Given the description of an element on the screen output the (x, y) to click on. 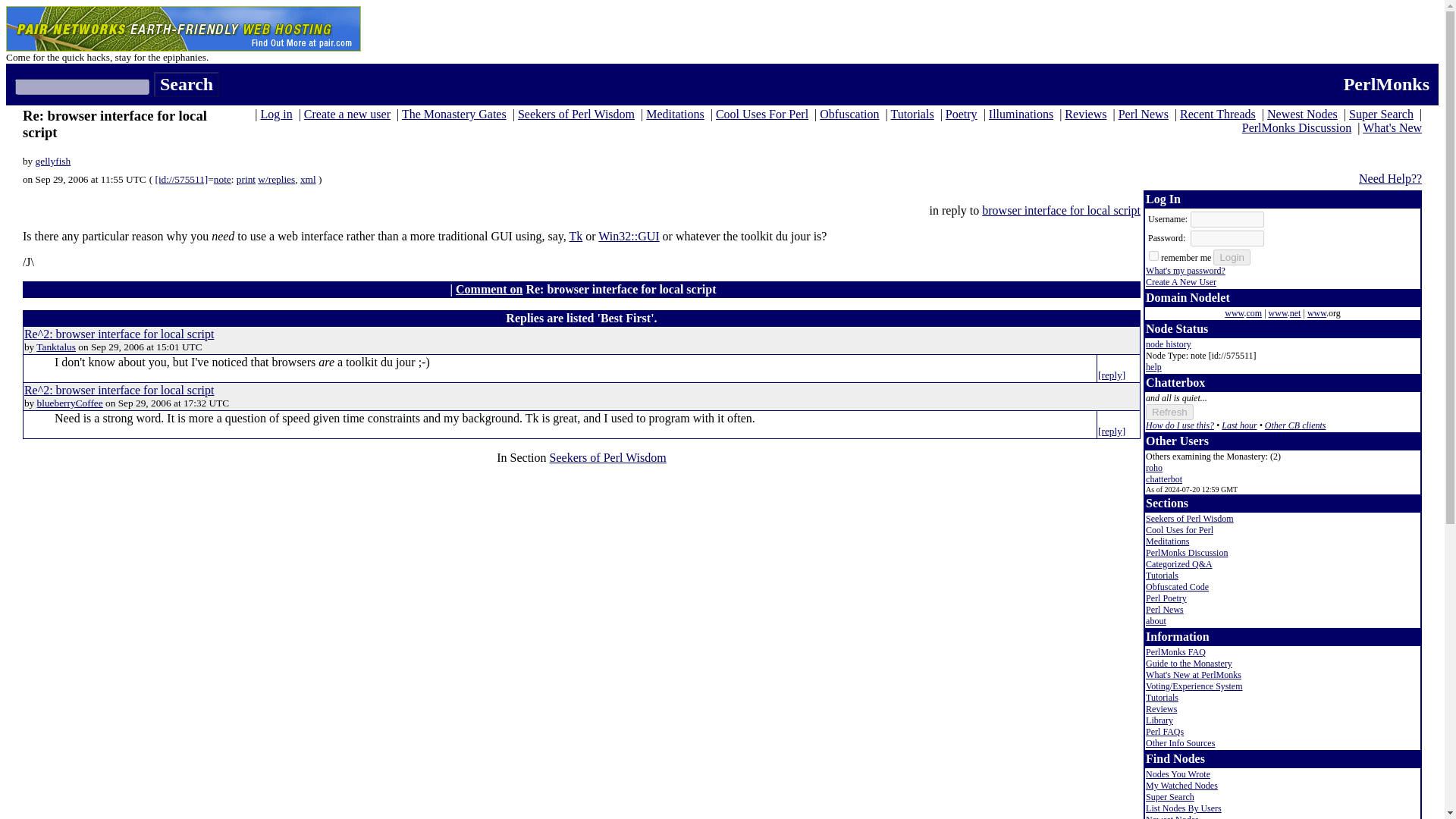
gellyfish (52, 161)
note (222, 179)
PerlMonks Discussion (1296, 127)
Illuminations (1020, 113)
Seekers of Perl Wisdom (576, 113)
Create a new user (347, 113)
Seekers of Perl Wisdom (608, 457)
PerlMonks (1386, 84)
Super Search (1381, 113)
Meditations (674, 113)
Newest Nodes (1302, 113)
Tutorials (911, 113)
Perl News (1143, 113)
blueberryCoffee (70, 402)
Refresh (1169, 412)
